Given the description of an element on the screen output the (x, y) to click on. 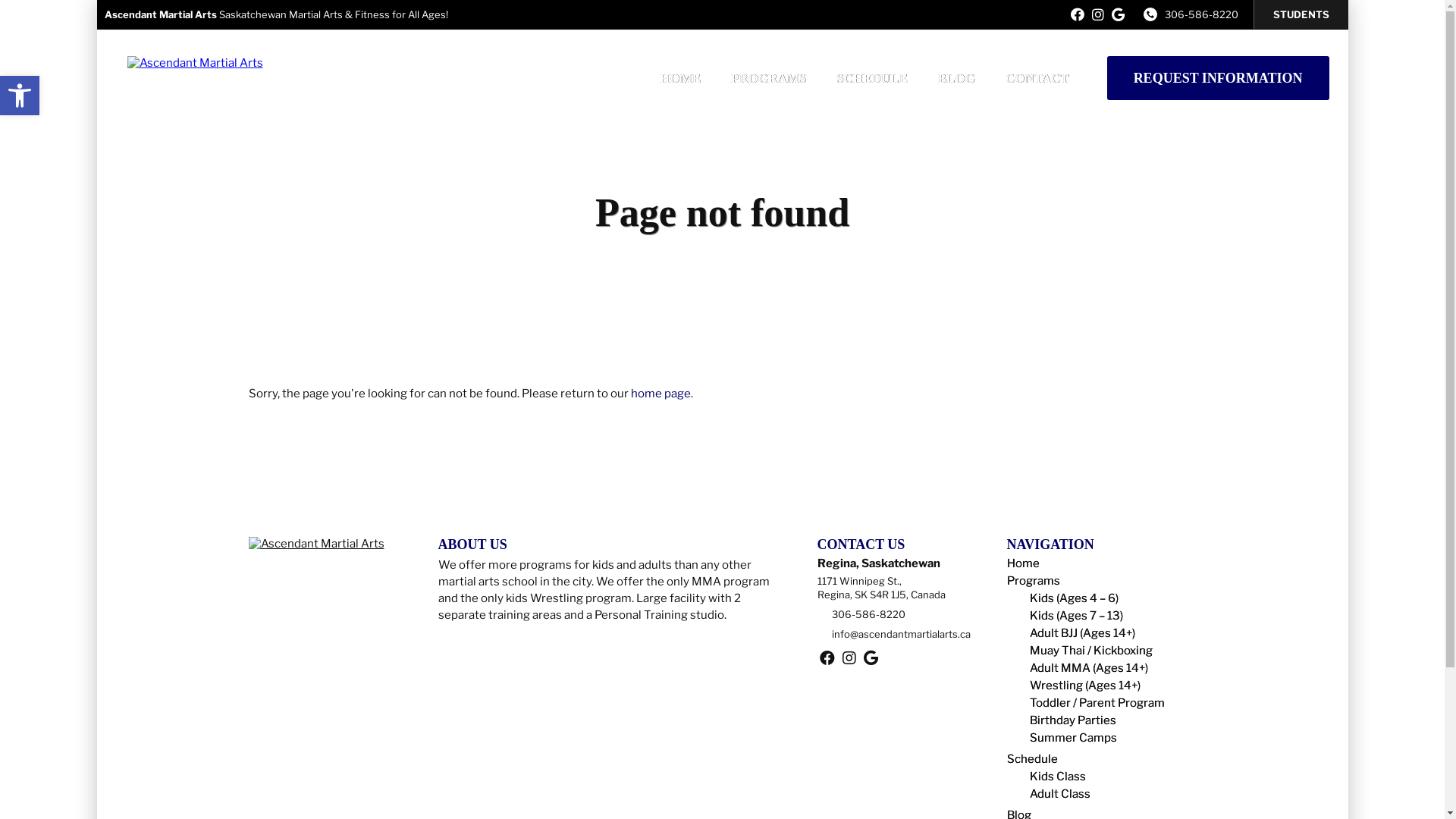
Wrestling (Ages 14+) Element type: text (1084, 685)
PROGRAMS Element type: text (768, 77)
info@ascendantmartialarts.ca Element type: text (900, 633)
306-586-8220 Element type: text (1201, 14)
Muay Thai / Kickboxing Element type: text (1090, 650)
Adult BJJ (Ages 14+) Element type: text (1082, 633)
STUDENTS Element type: text (1300, 14)
Kids Class Element type: text (1057, 776)
Home Element type: text (1023, 563)
Adult Class Element type: text (1059, 793)
HOME Element type: text (679, 77)
SCHEDULE Element type: text (871, 77)
Open toolbar
Accessibility Tools Element type: text (19, 95)
306-586-8220 Element type: text (867, 614)
Summer Camps Element type: text (1073, 737)
CONTACT Element type: text (1037, 77)
Programs Element type: text (1033, 580)
BLOG Element type: text (956, 77)
home page Element type: text (660, 393)
1171 Winnipeg St.,
Regina, SK S4R 1J5, Canada Element type: text (881, 587)
Adult MMA (Ages 14+) Element type: text (1088, 667)
Toddler / Parent Program Element type: text (1096, 702)
Birthday Parties Element type: text (1072, 720)
Schedule Element type: text (1032, 758)
REQUEST INFORMATION Element type: text (1218, 78)
